Given the description of an element on the screen output the (x, y) to click on. 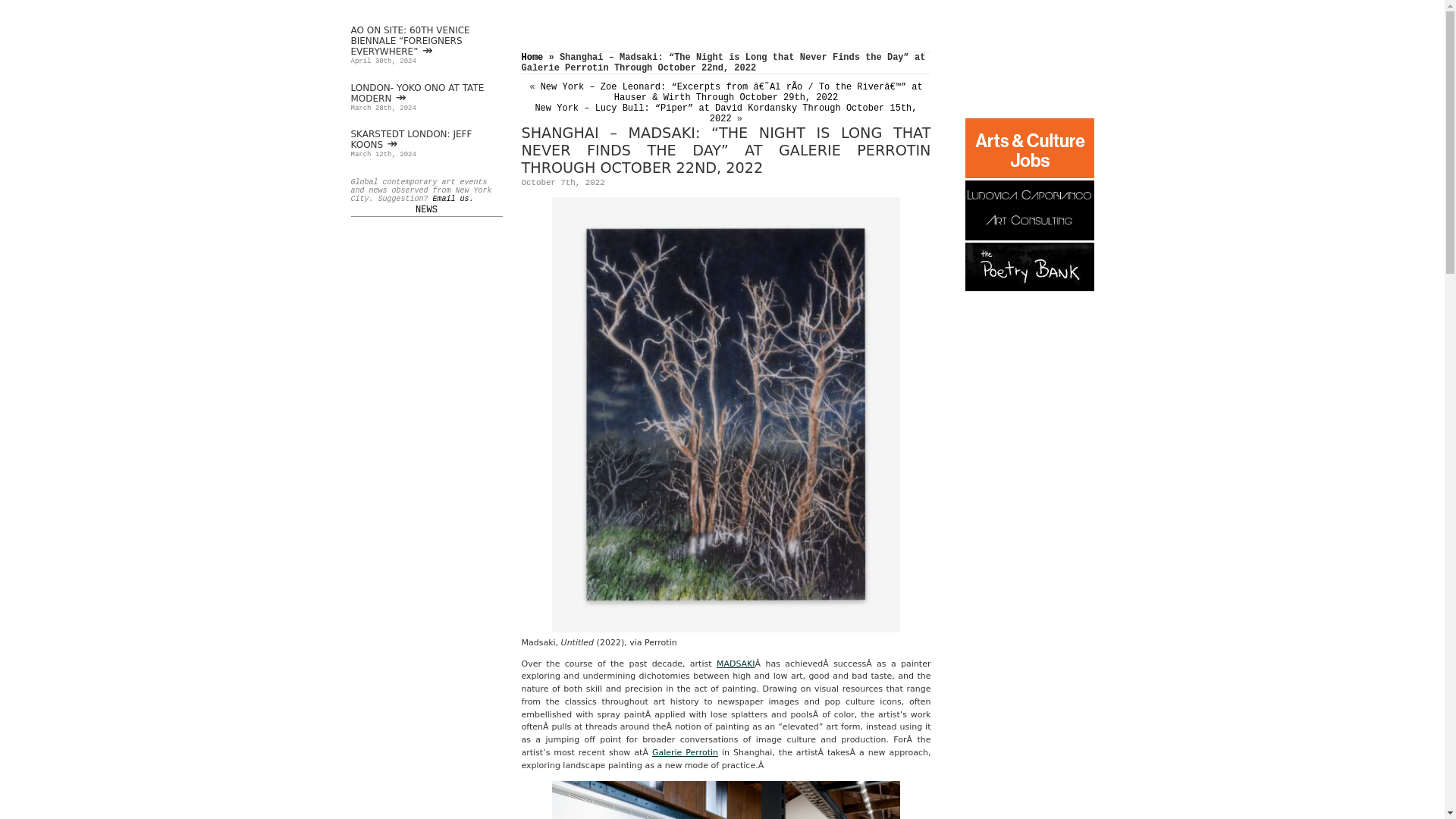
LONDON- YOKO ONO AT TATE MODERN (416, 92)
Permanent Link to Skarstedt London: Jeff Koons (410, 138)
Galerie Perrotin - Art Observed (684, 752)
Permanent Link to London- Yoko Ono at Tate Modern (416, 92)
Email us. (453, 198)
Galerie Perrotin (684, 752)
SKARSTEDT LONDON: JEFF KOONS (410, 138)
MADSAKI (735, 663)
MADSAKI - Art Observed (735, 663)
Home (532, 57)
